Given the description of an element on the screen output the (x, y) to click on. 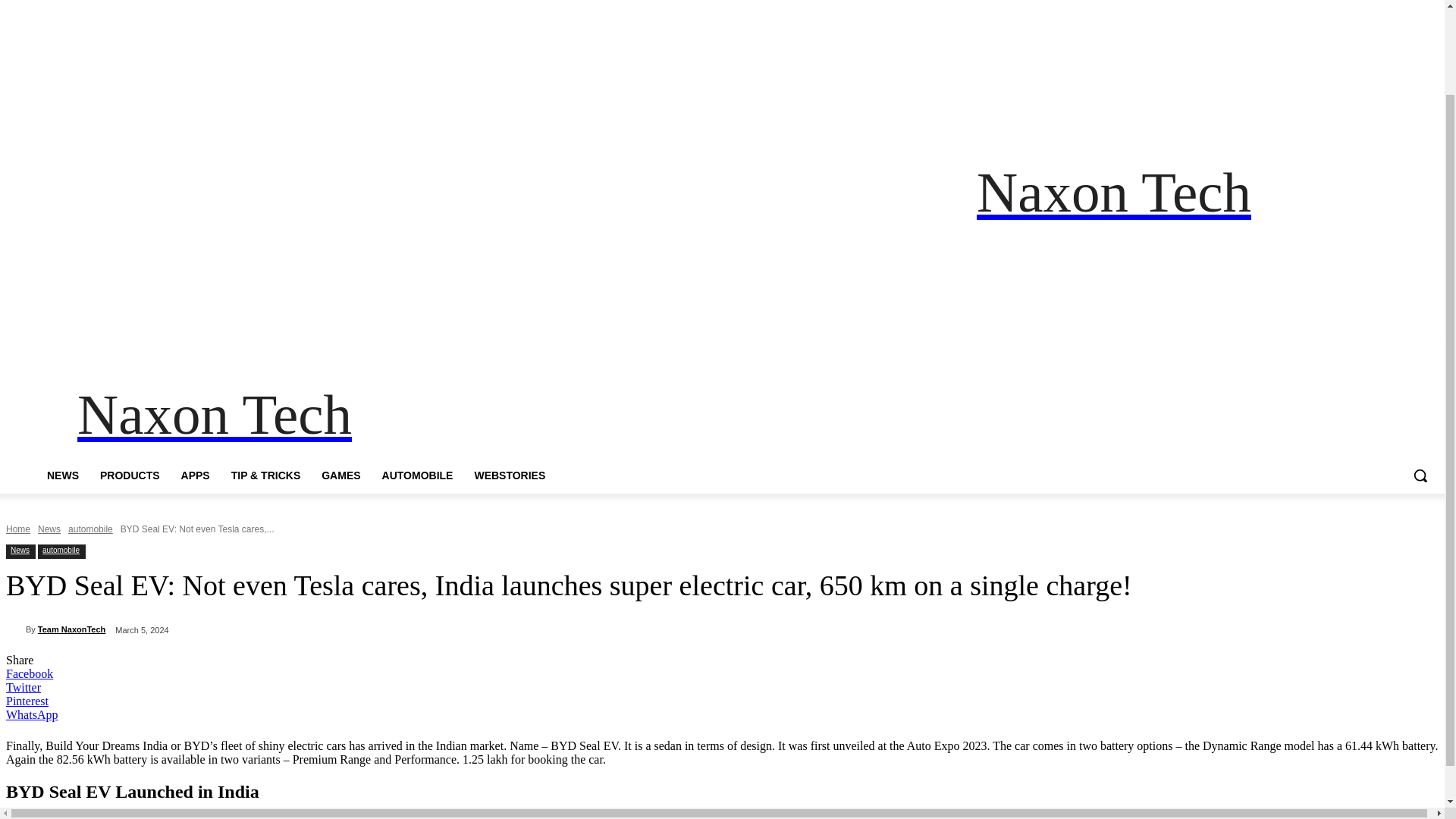
NEWS (62, 475)
News (49, 529)
Twitter (1366, 347)
automobile (90, 529)
WEBSTORIES (509, 475)
Team NaxonTech (70, 629)
View all posts in News (49, 529)
Pinterest (1346, 347)
Instagram (1304, 347)
Youtube (1387, 347)
Home (17, 529)
Linkedin (1324, 347)
Naxon Tech (214, 415)
